Given the description of an element on the screen output the (x, y) to click on. 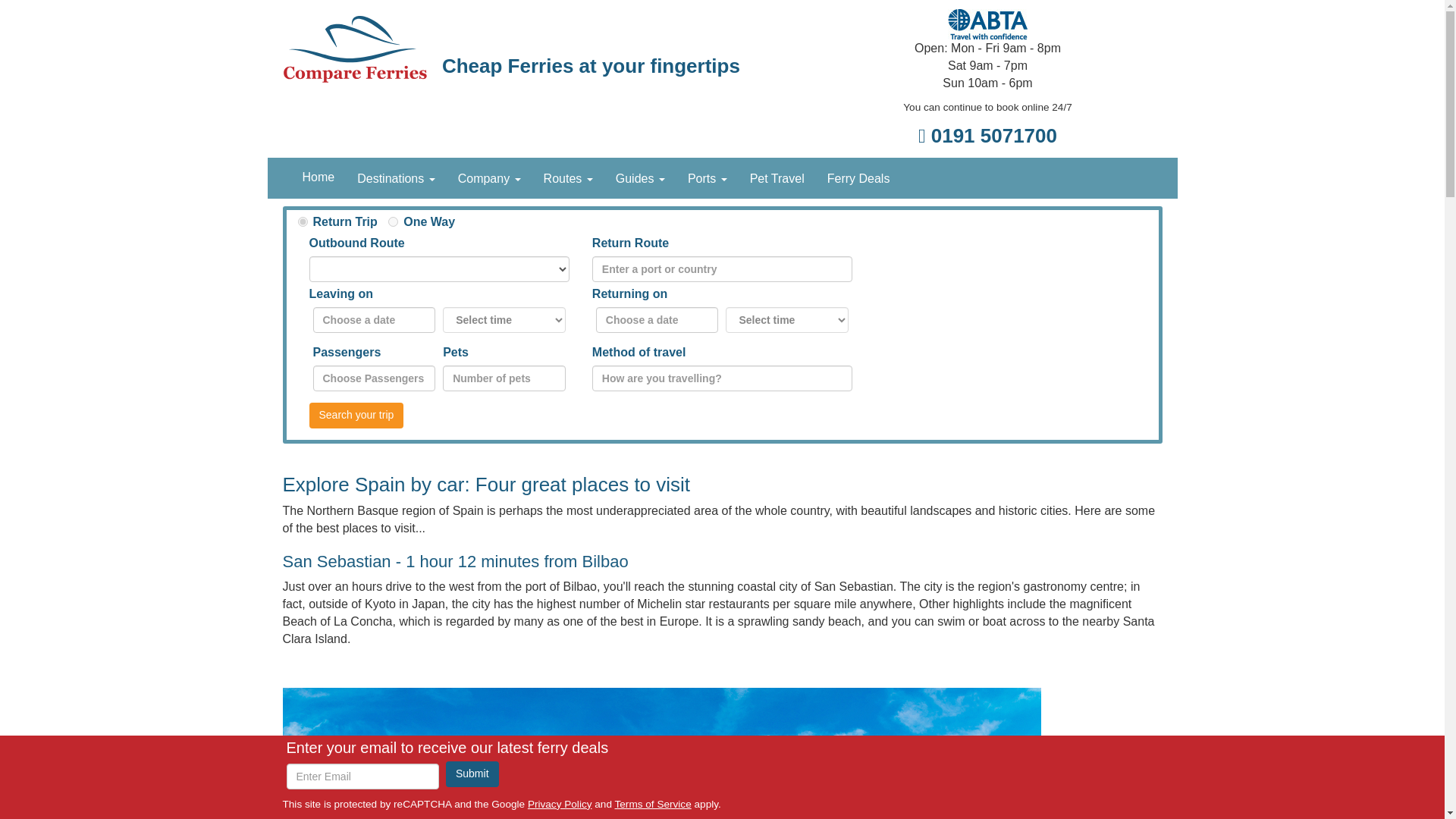
Destinations (396, 178)
Company (489, 178)
return (302, 221)
Home (318, 177)
shutterstock-715941577.jpg (661, 753)
oneway (392, 221)
0191 5071700 (987, 135)
